Given the description of an element on the screen output the (x, y) to click on. 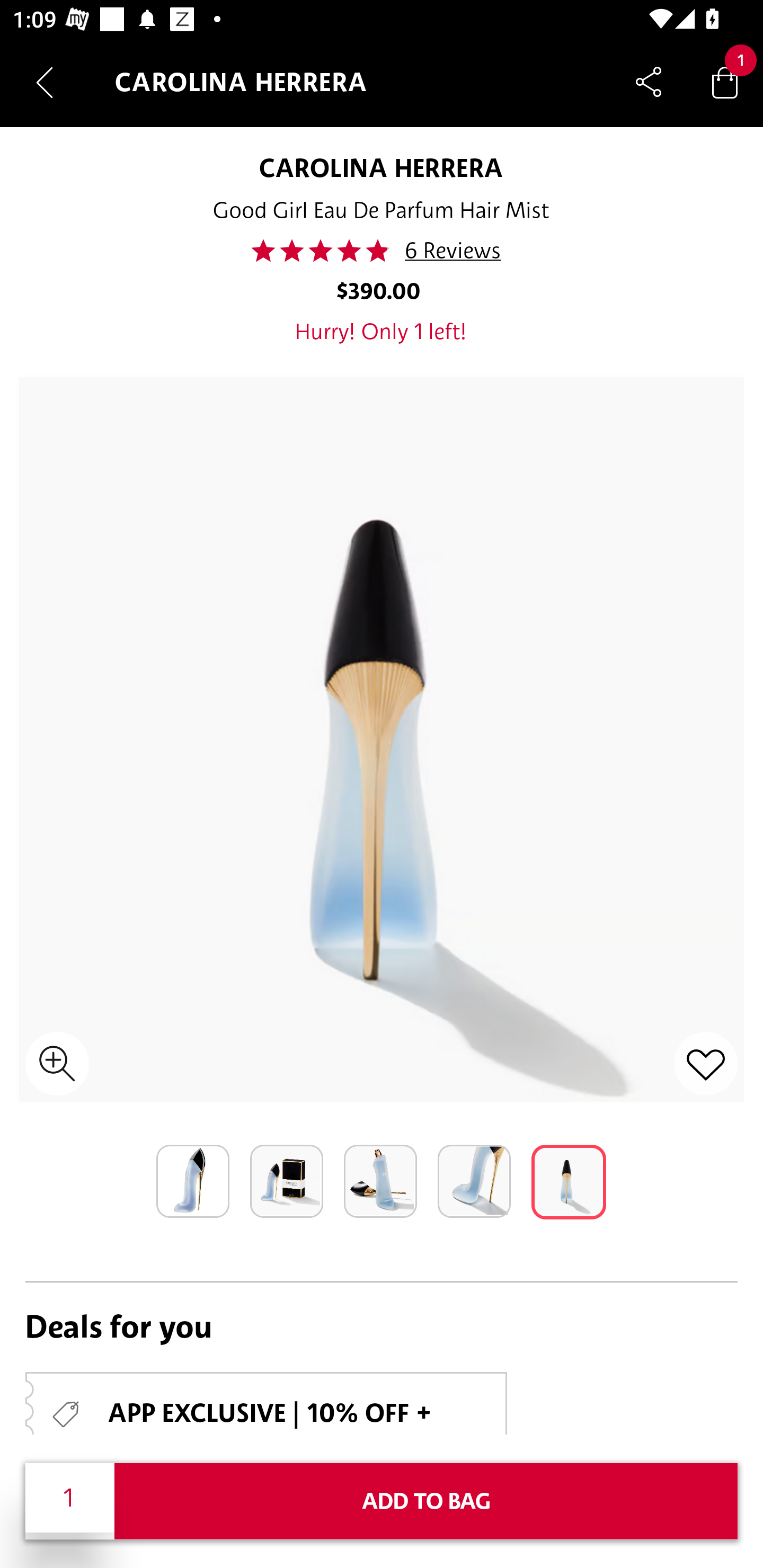
1 (69, 1496)
